Given the description of an element on the screen output the (x, y) to click on. 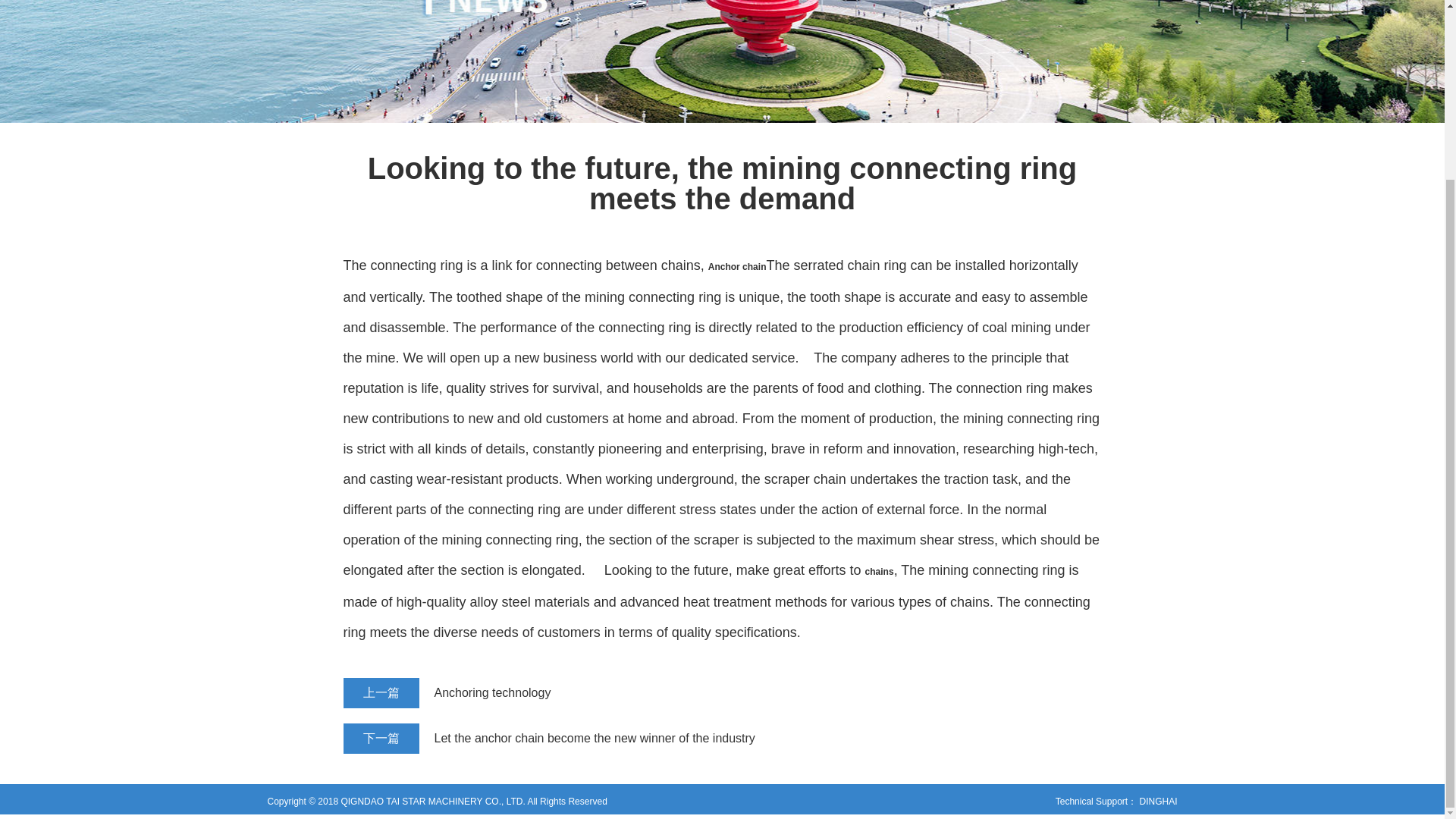
Anchoring technology (683, 693)
DINGHAI (1157, 801)
chains (878, 571)
Anchor chain (737, 266)
Let the anchor chain become the new winner of the industry (683, 738)
